Given the description of an element on the screen output the (x, y) to click on. 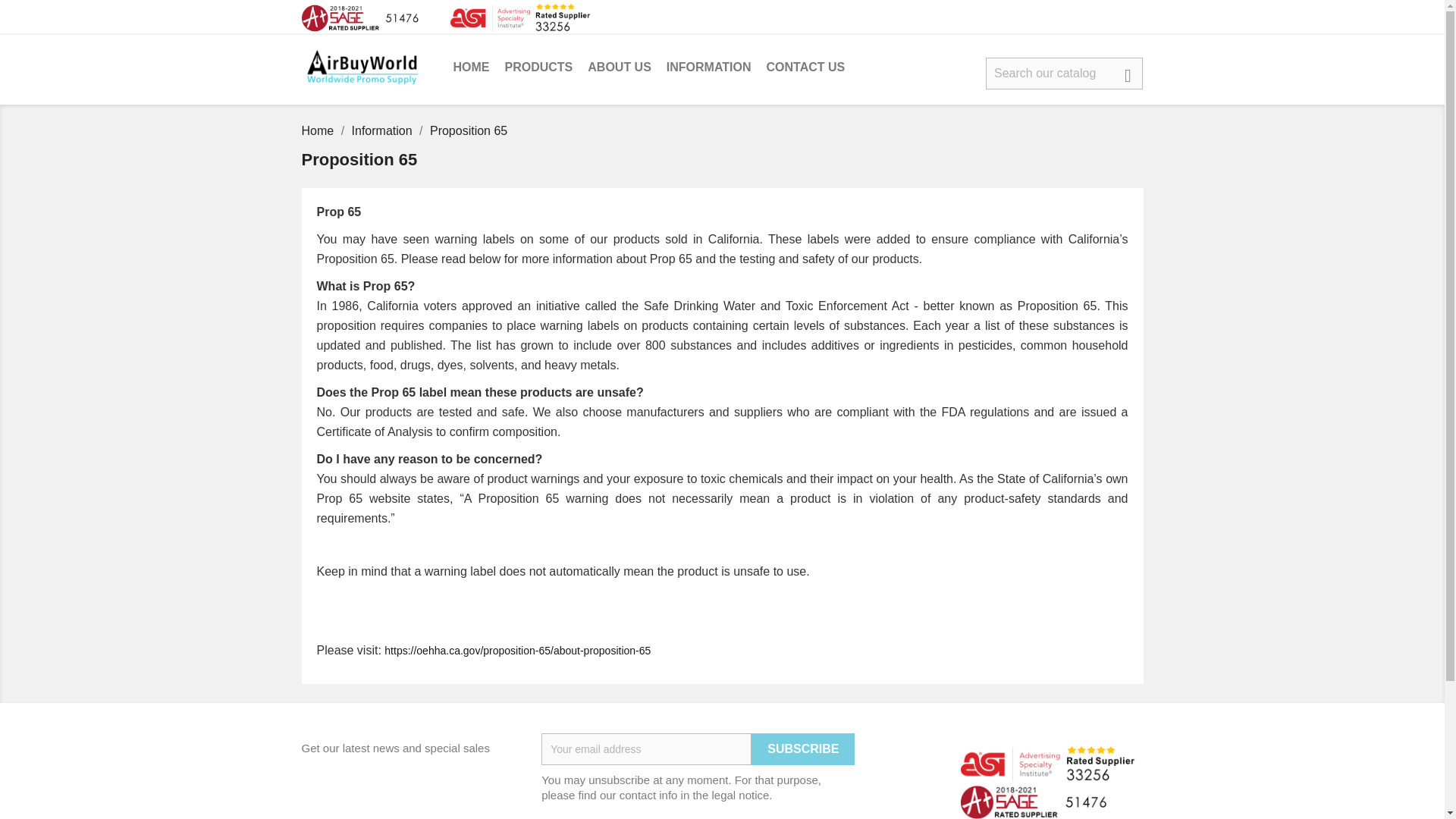
Subscribe (802, 748)
PRODUCTS (538, 68)
HOME (471, 68)
